Given the description of an element on the screen output the (x, y) to click on. 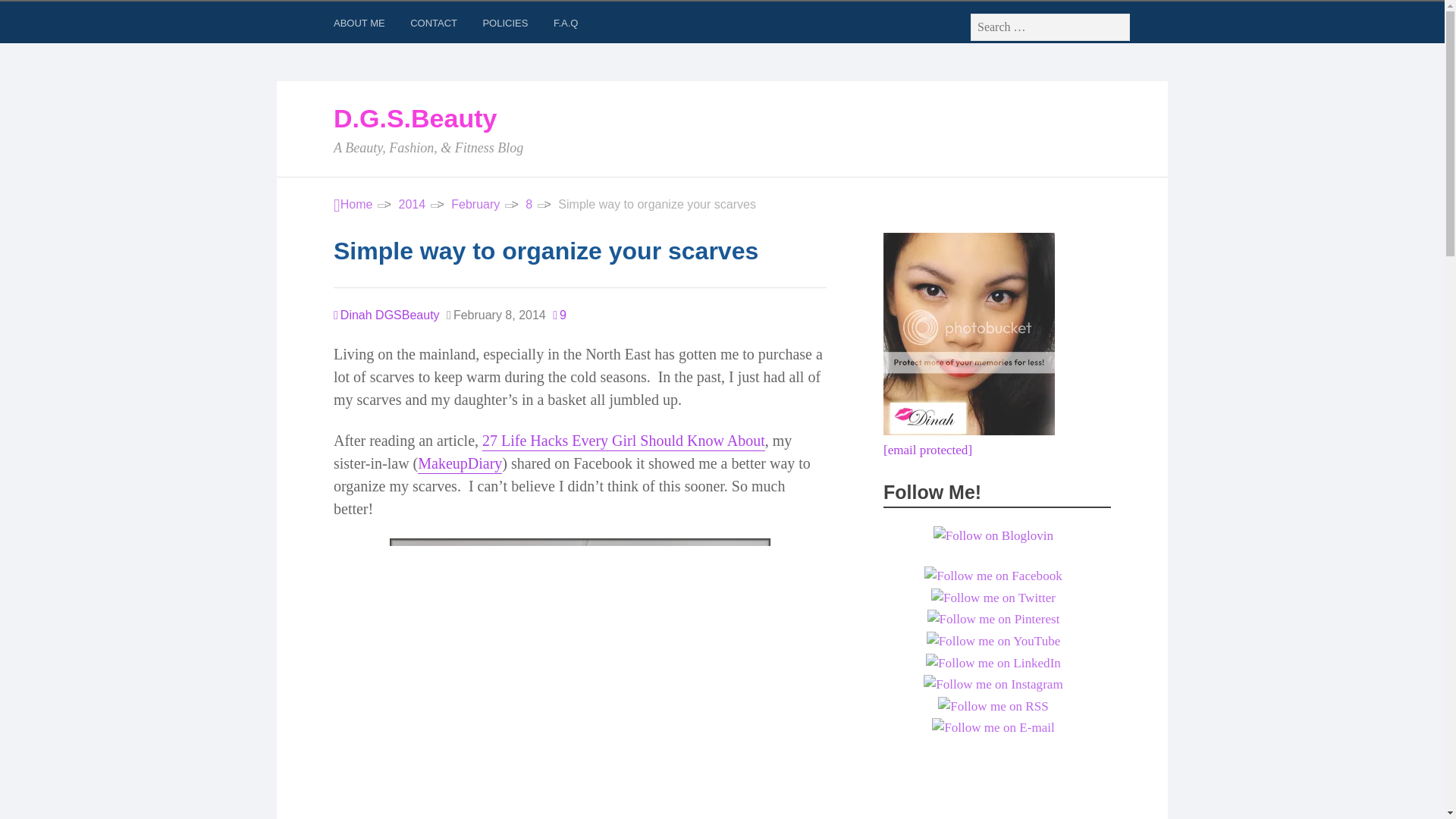
MakeupDiary (459, 464)
27 Life Hacks Every Girl Should Know About (623, 441)
Follow me on Facebook (993, 576)
Saturday, February 8, 2014, 11:35 am (496, 315)
POLICIES (506, 26)
February (475, 204)
Follow me on Twitter (993, 598)
Search (30, 15)
2014 (412, 204)
Search for: (1050, 26)
Dinah DGSBeauty (386, 314)
Home (352, 204)
Posts by Dinah DGSBeauty (386, 314)
D.G.S.Beauty (352, 204)
CONTACT (435, 26)
